Given the description of an element on the screen output the (x, y) to click on. 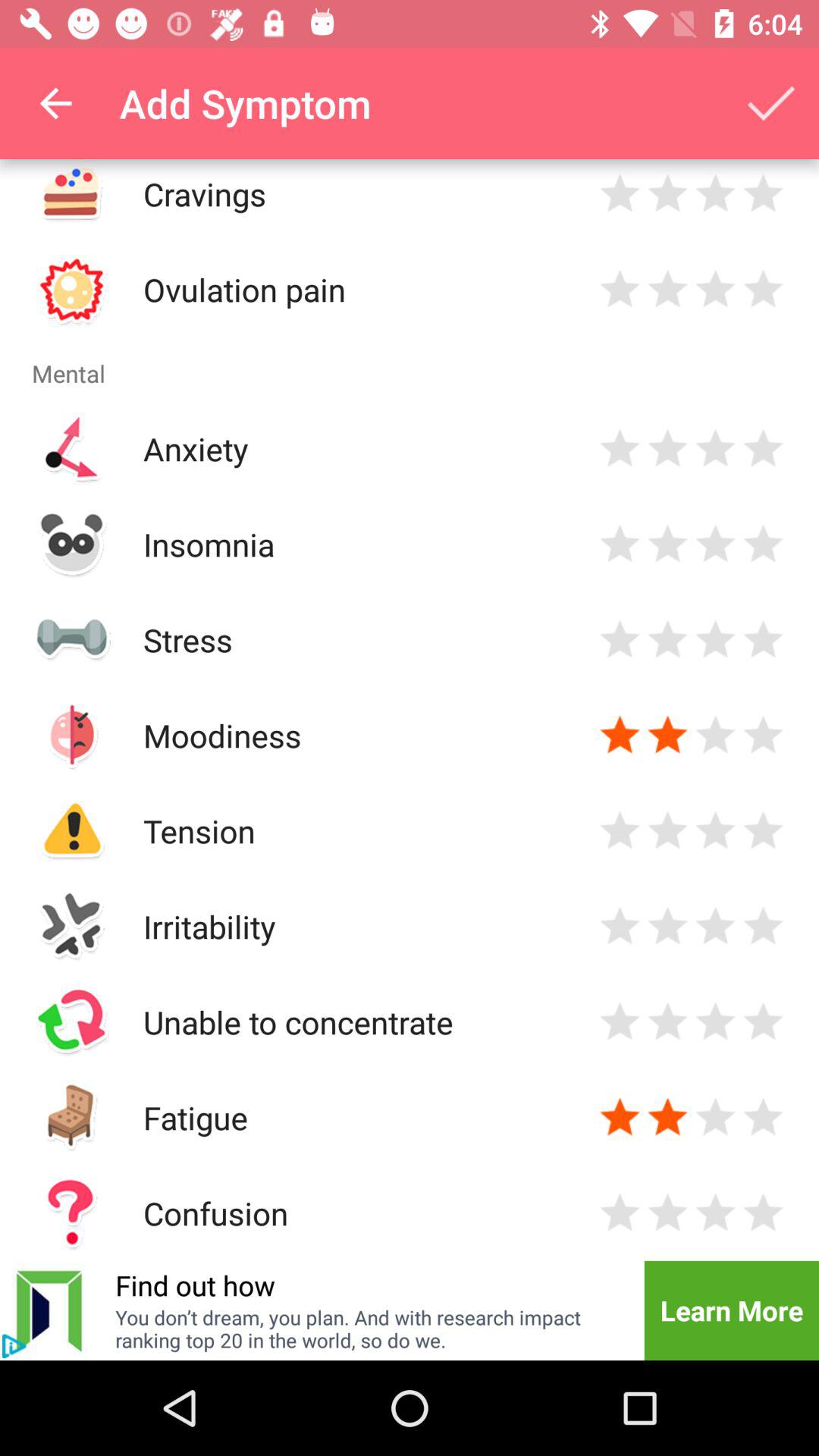
rate symptom (667, 448)
